Given the description of an element on the screen output the (x, y) to click on. 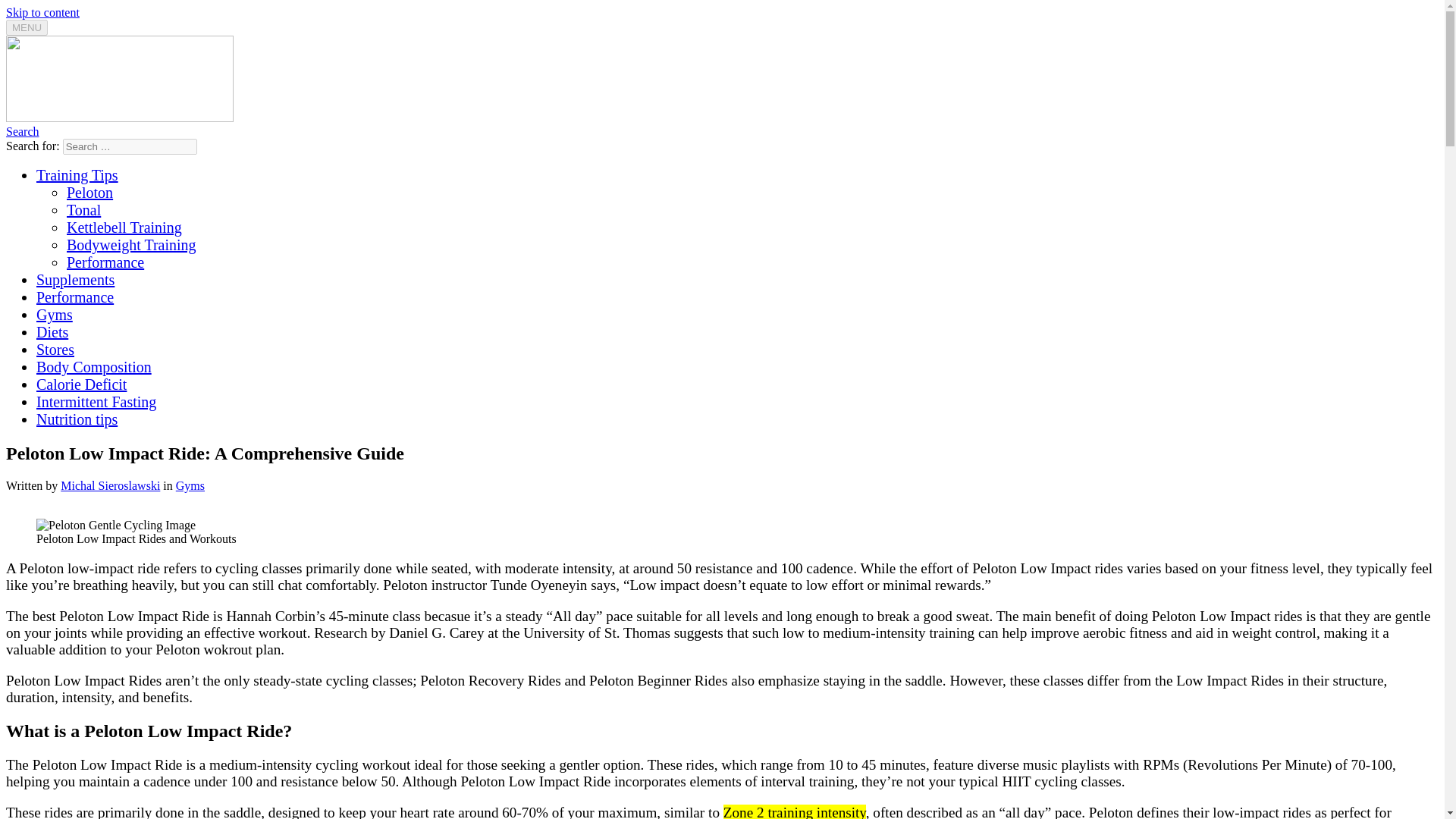
Bodyweight Training (131, 244)
Performance (74, 297)
Intermittent Fasting (95, 401)
Search (22, 131)
Stores (55, 349)
Skip to content (42, 11)
Body Composition (93, 366)
Tonal (83, 209)
Supplements (75, 279)
Peloton (89, 192)
